Given the description of an element on the screen output the (x, y) to click on. 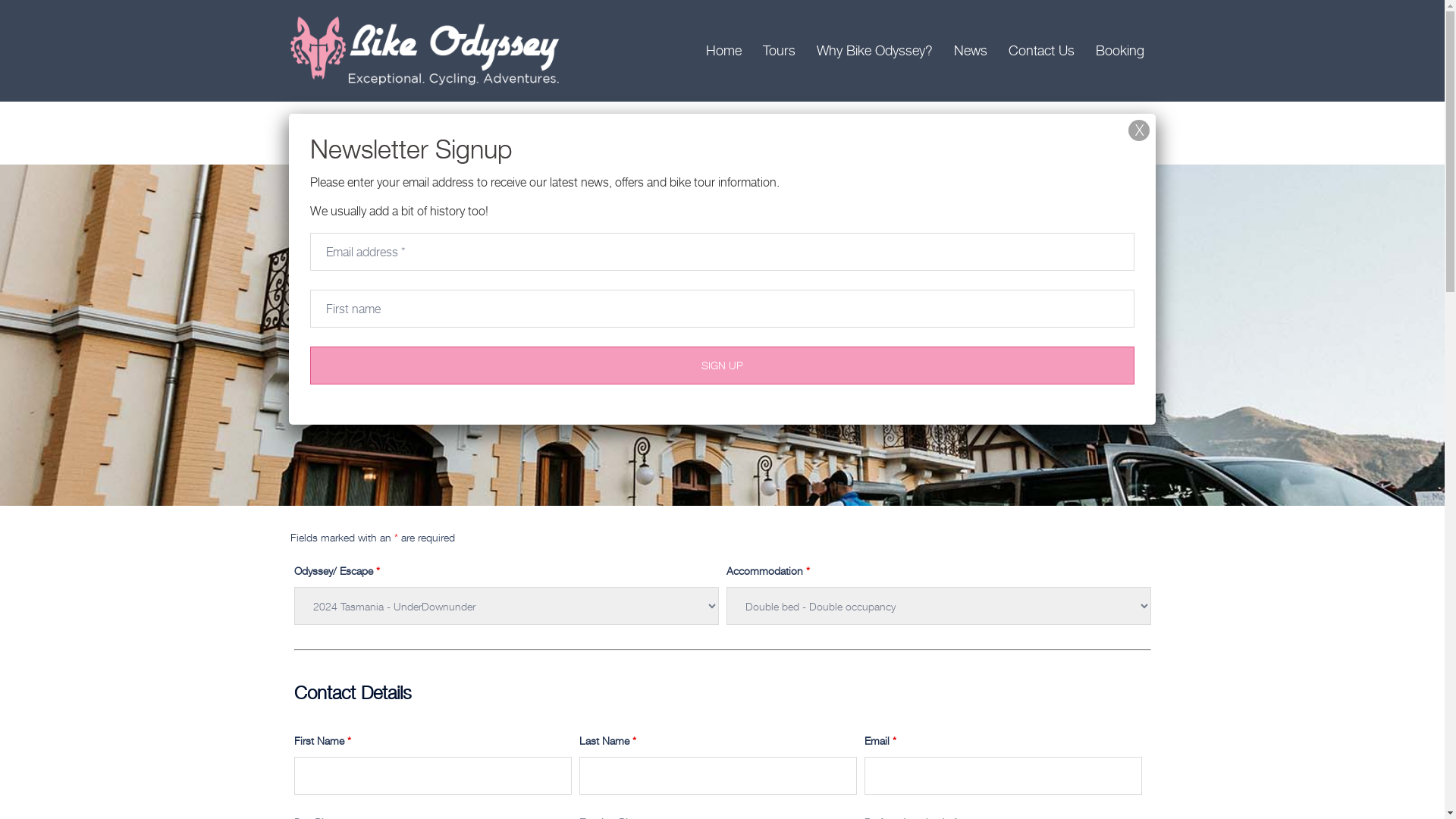
Bike Odyssey Element type: hover (425, 48)
News Element type: text (970, 50)
Booking Element type: text (1119, 50)
Contact Us Element type: text (1041, 50)
Tours Element type: text (778, 50)
Search Element type: text (48, 18)
X Element type: text (1138, 130)
Sign up Element type: text (722, 365)
Home Element type: text (722, 50)
Why Bike Odyssey? Element type: text (873, 50)
